Given the description of an element on the screen output the (x, y) to click on. 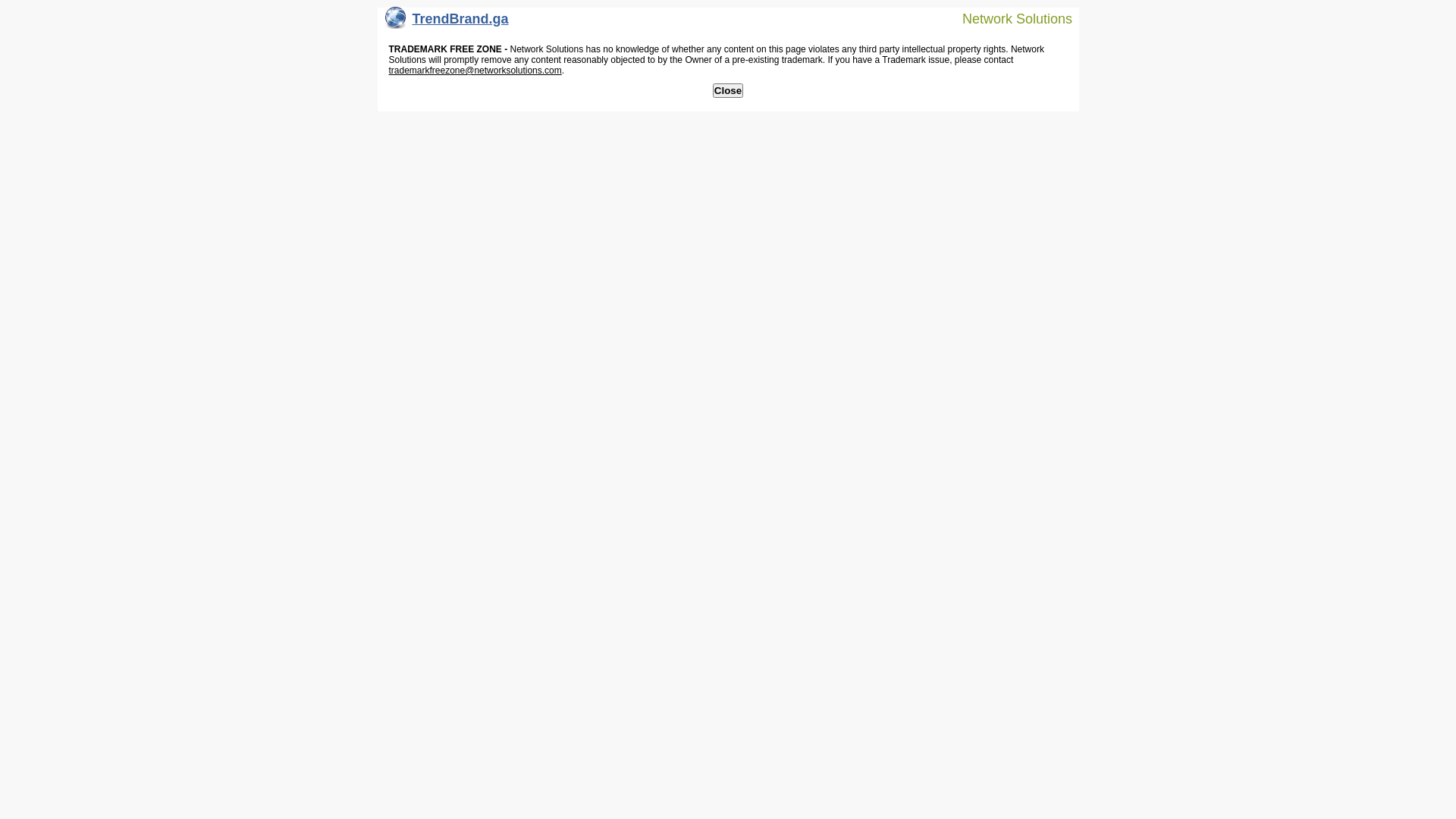
trademarkfreezone@networksolutions.com Element type: text (474, 70)
TrendBrand.ga Element type: text (446, 21)
Close Element type: text (727, 90)
Network Solutions Element type: text (1007, 17)
